Given the description of an element on the screen output the (x, y) to click on. 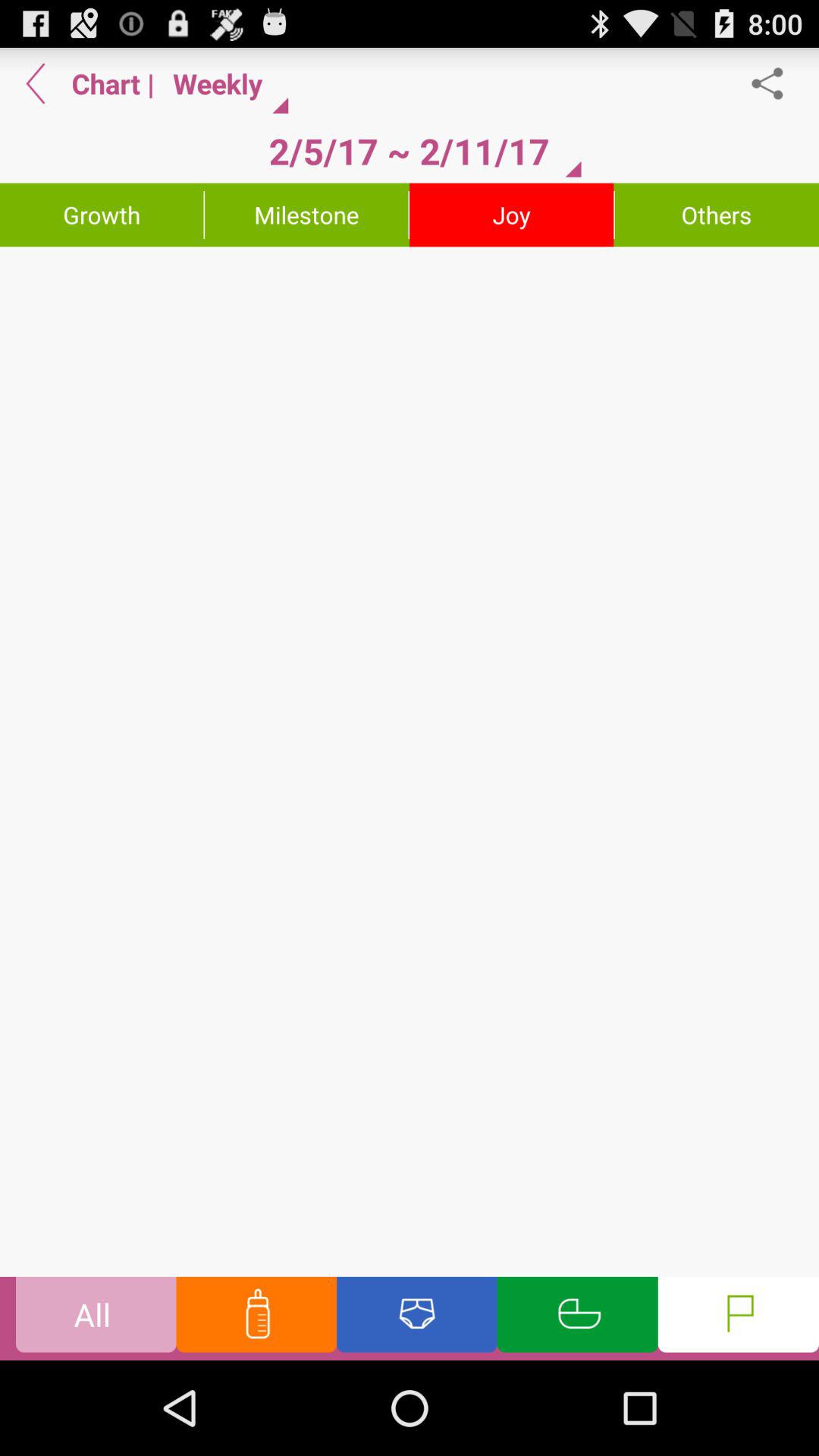
enter diaper change (416, 1318)
